Given the description of an element on the screen output the (x, y) to click on. 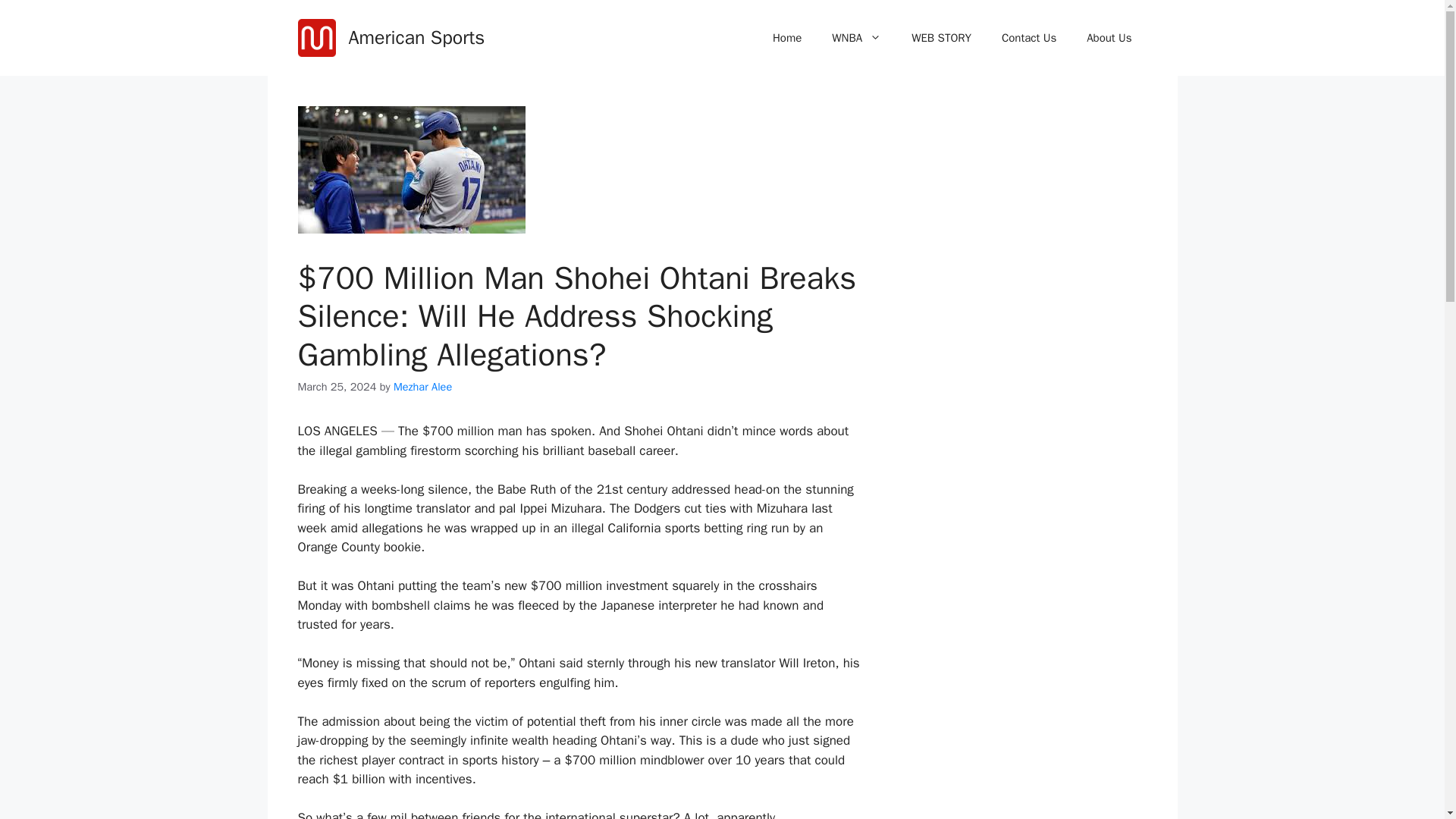
Mezhar Alee (422, 386)
American Sports (416, 37)
WEB STORY (941, 37)
Home (786, 37)
WNBA (856, 37)
About Us (1109, 37)
Contact Us (1029, 37)
View all posts by Mezhar Alee (422, 386)
